Given the description of an element on the screen output the (x, y) to click on. 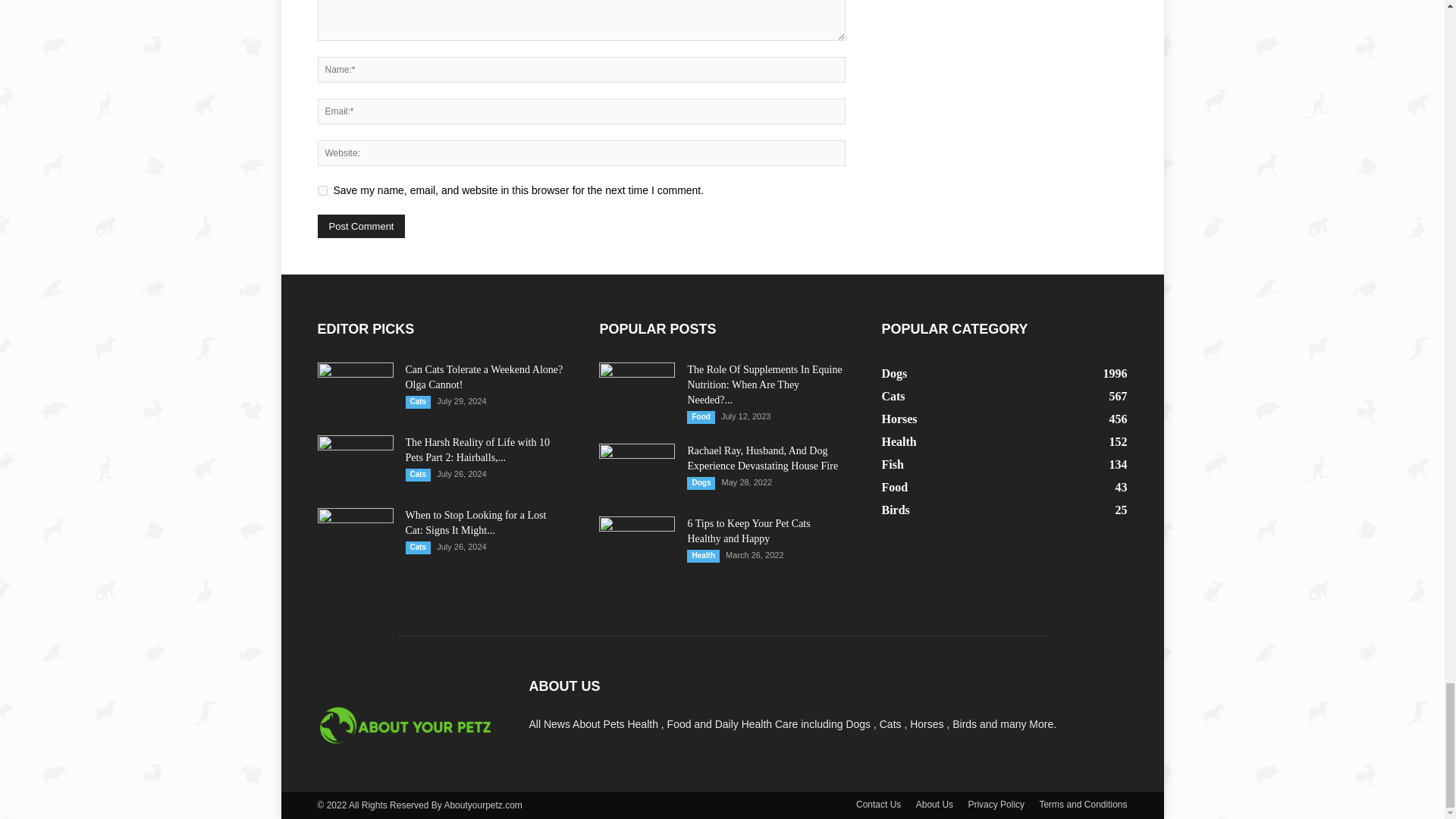
Post Comment (360, 226)
yes (321, 190)
